Given the description of an element on the screen output the (x, y) to click on. 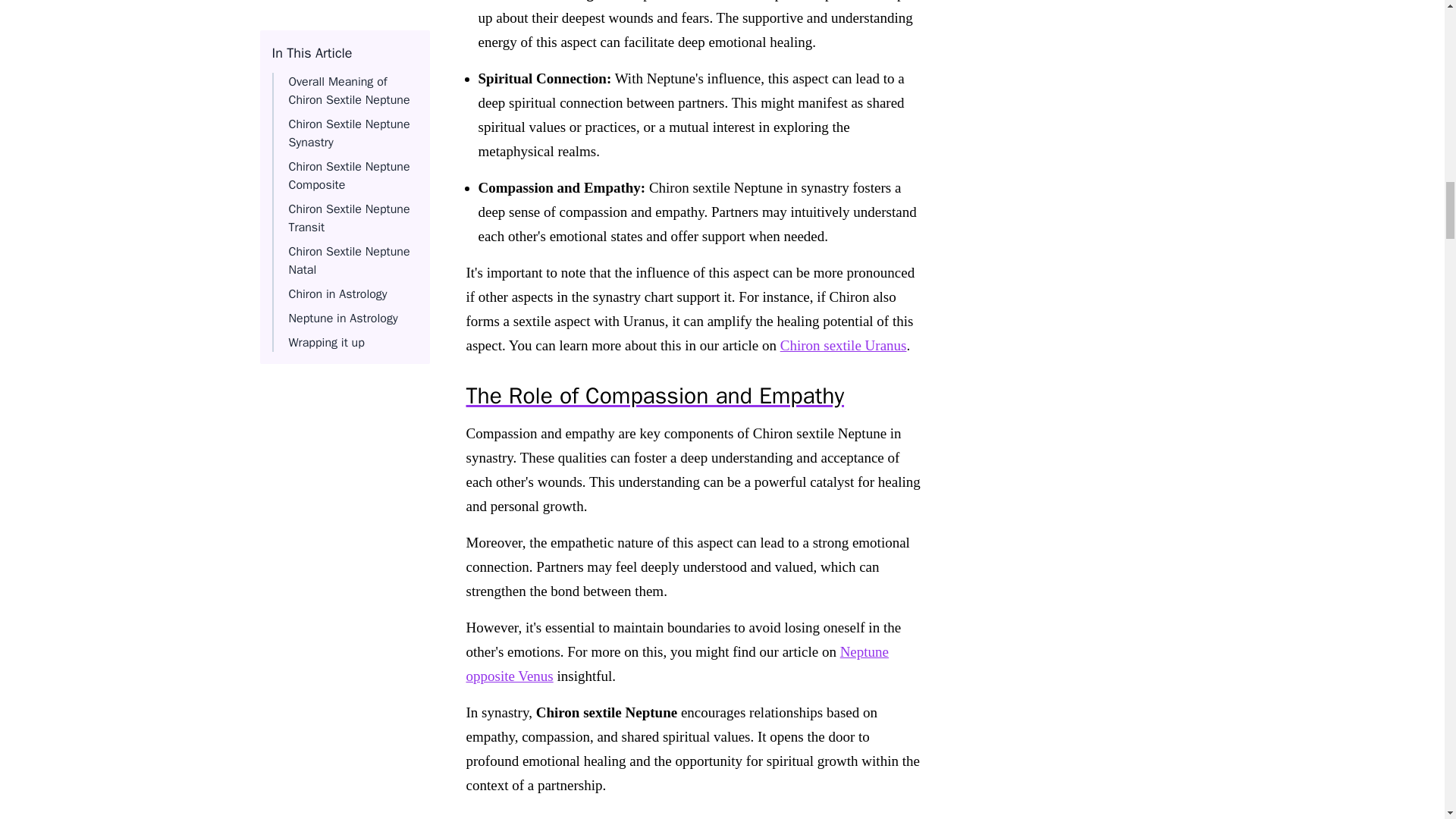
Neptune opposite Venus (676, 662)
Chiron sextile Uranus (843, 344)
